Given the description of an element on the screen output the (x, y) to click on. 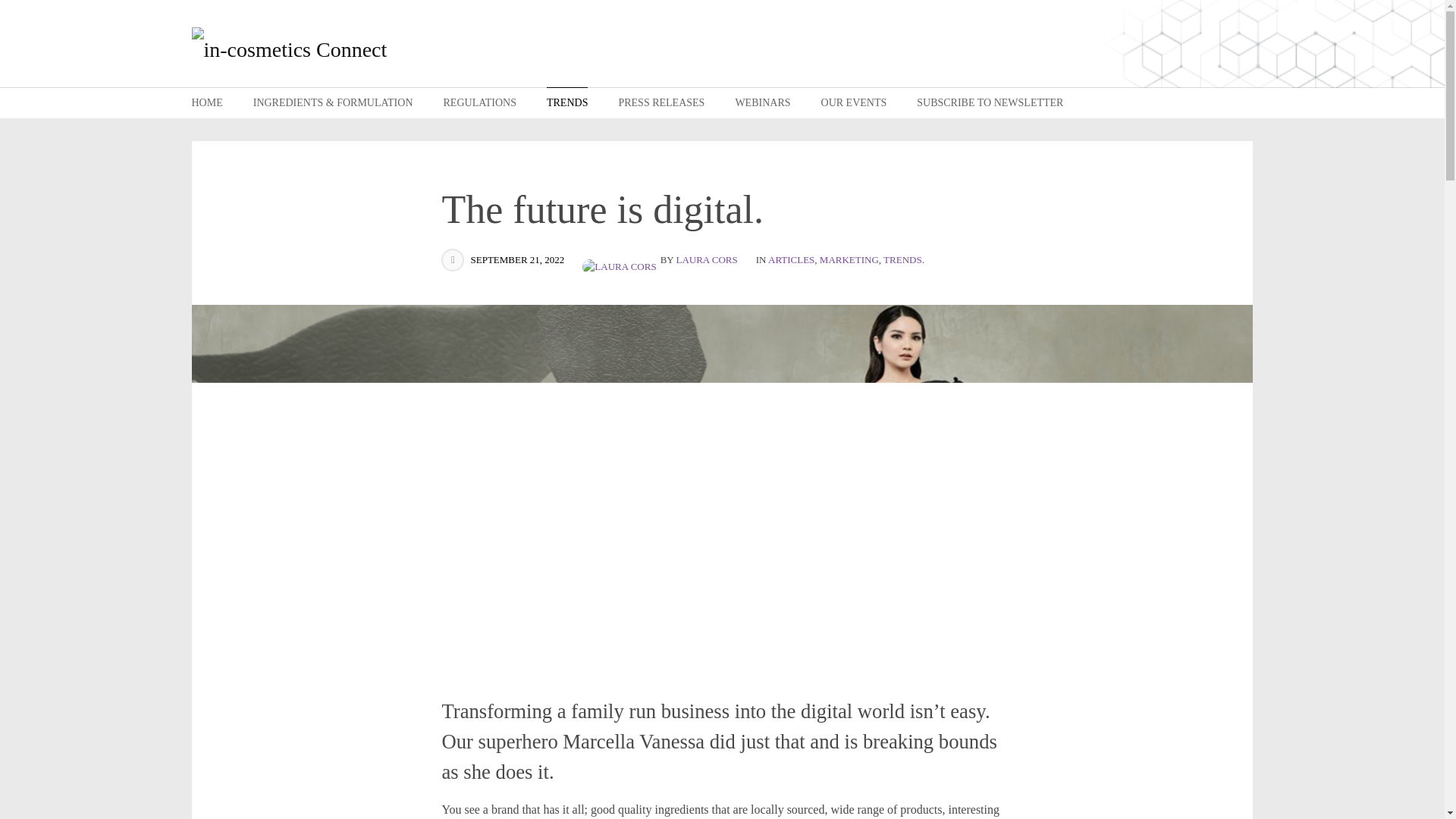
Search (1239, 102)
View all posts by Laura Cors (705, 259)
11:26 am (517, 259)
Posts by Laura Cors (620, 259)
MARKETING (849, 259)
SEPTEMBER 21, 2022 (517, 259)
OUR EVENTS (853, 102)
WEBINARS (762, 102)
SUBSCRIBE TO NEWSLETTER (989, 102)
TRENDS (902, 259)
TRENDS (567, 101)
LAURA CORS (705, 259)
PRESS RELEASES (660, 102)
